Given the description of an element on the screen output the (x, y) to click on. 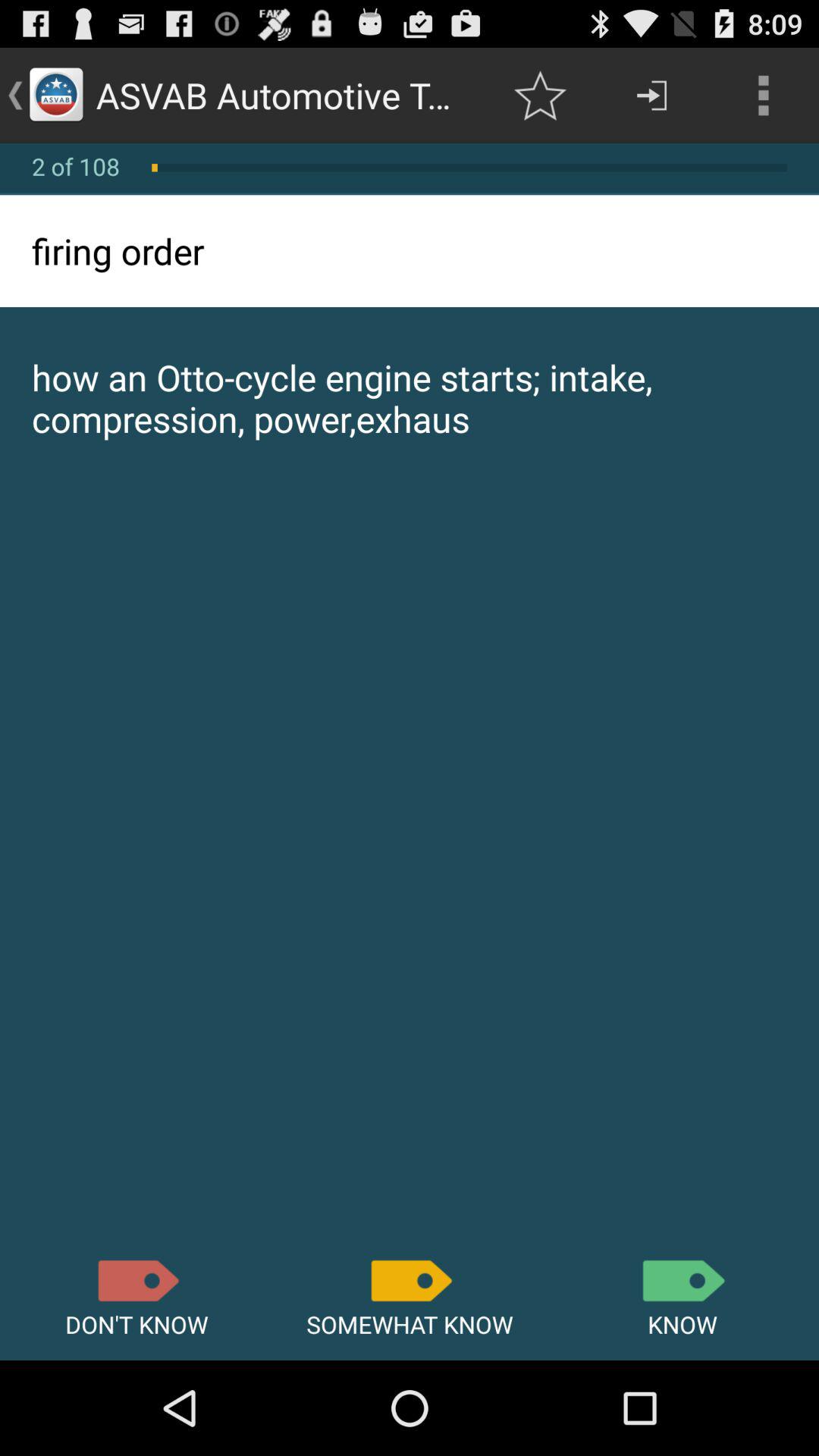
launch the app to the right of the asvab automotive terminologies item (540, 95)
